Given the description of an element on the screen output the (x, y) to click on. 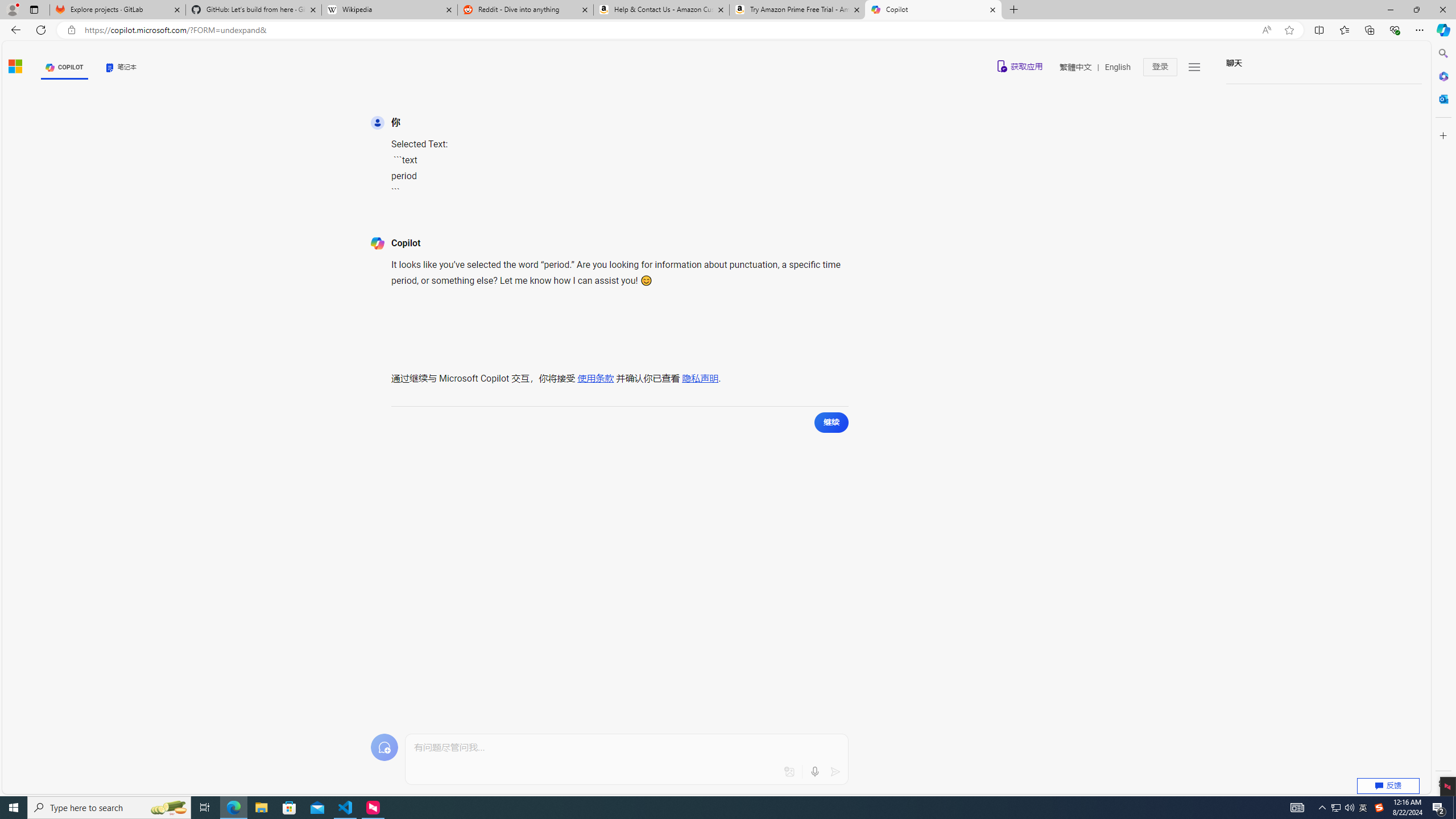
Try Amazon Prime Free Trial - Amazon Customer Service (797, 9)
